Given the description of an element on the screen output the (x, y) to click on. 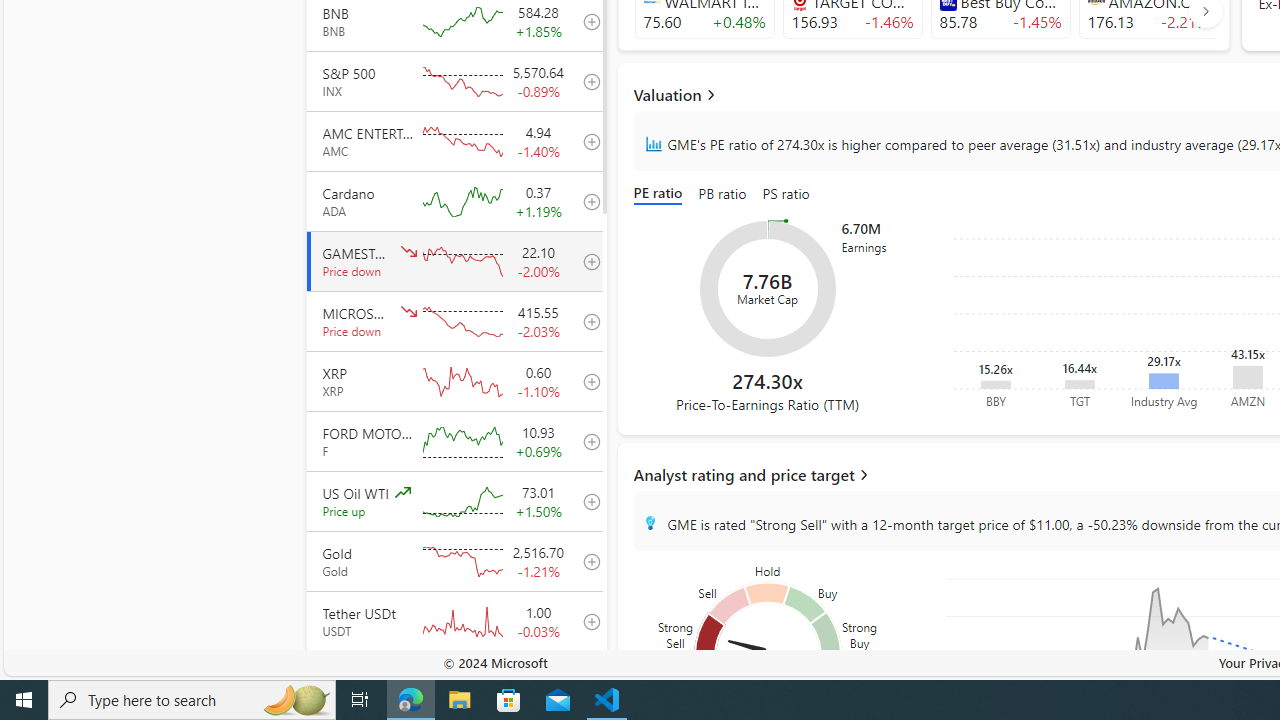
Class: recharts-surface (767, 288)
